Given the description of an element on the screen output the (x, y) to click on. 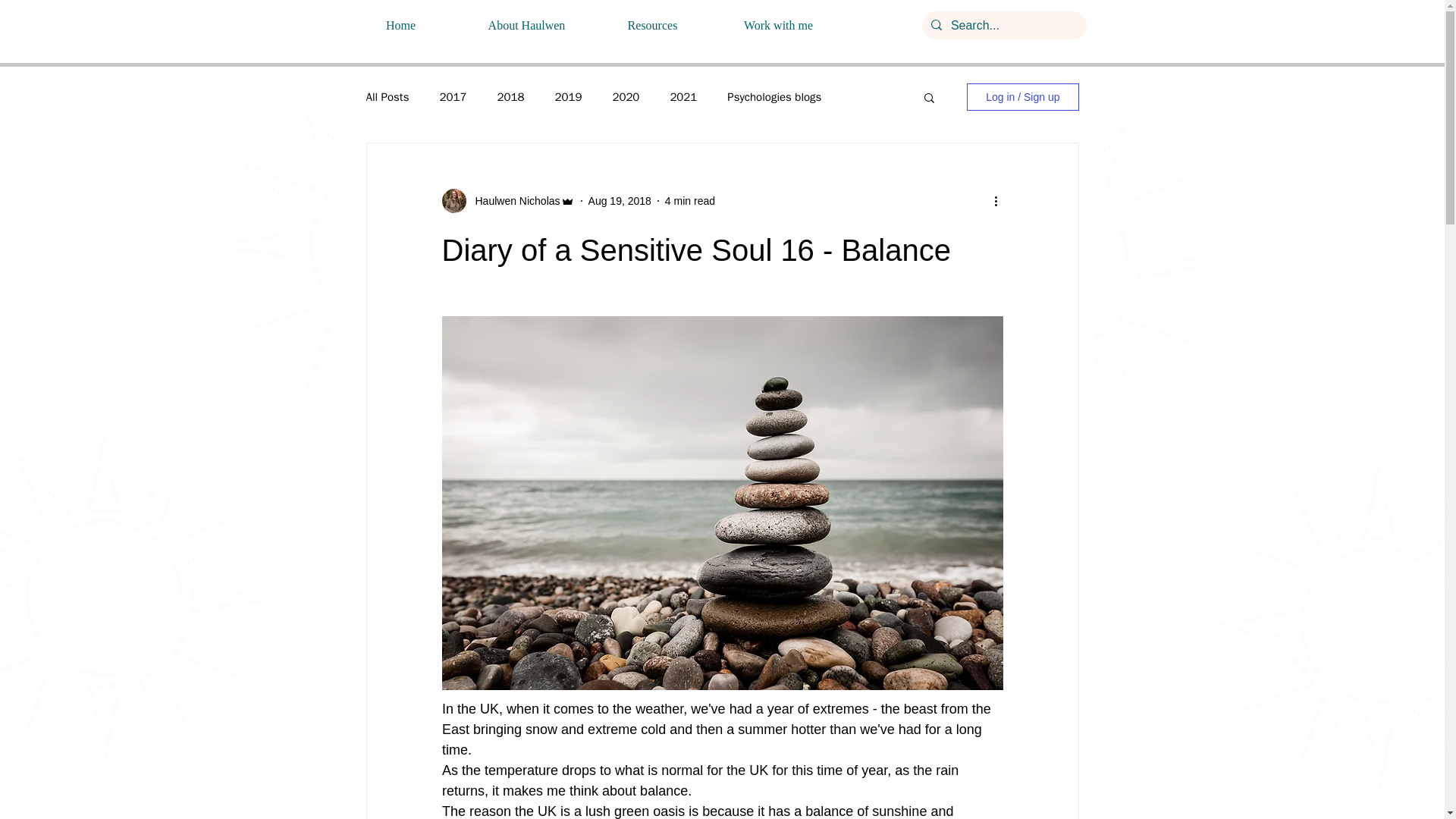
2017 (452, 96)
Home (400, 25)
Work with me (778, 25)
2018 (510, 96)
Resources (652, 25)
Psychologies blogs (773, 96)
2021 (683, 96)
Haulwen Nicholas (512, 200)
About Haulwen (526, 25)
All Posts (387, 96)
